Given the description of an element on the screen output the (x, y) to click on. 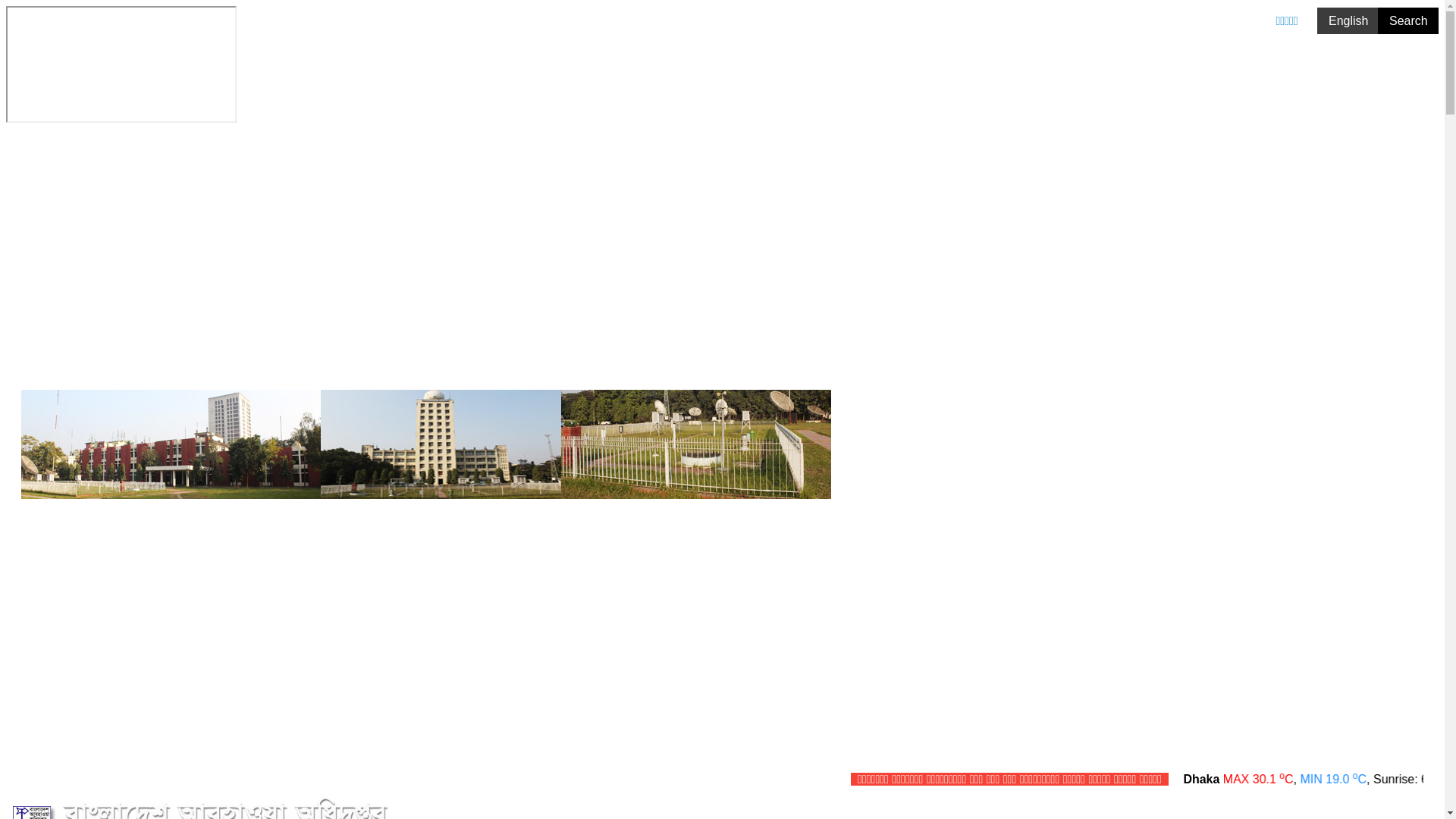
Header Slide 3 Element type: hover (426, 443)
English Element type: text (1347, 20)
Search Element type: text (1407, 20)
